Given the description of an element on the screen output the (x, y) to click on. 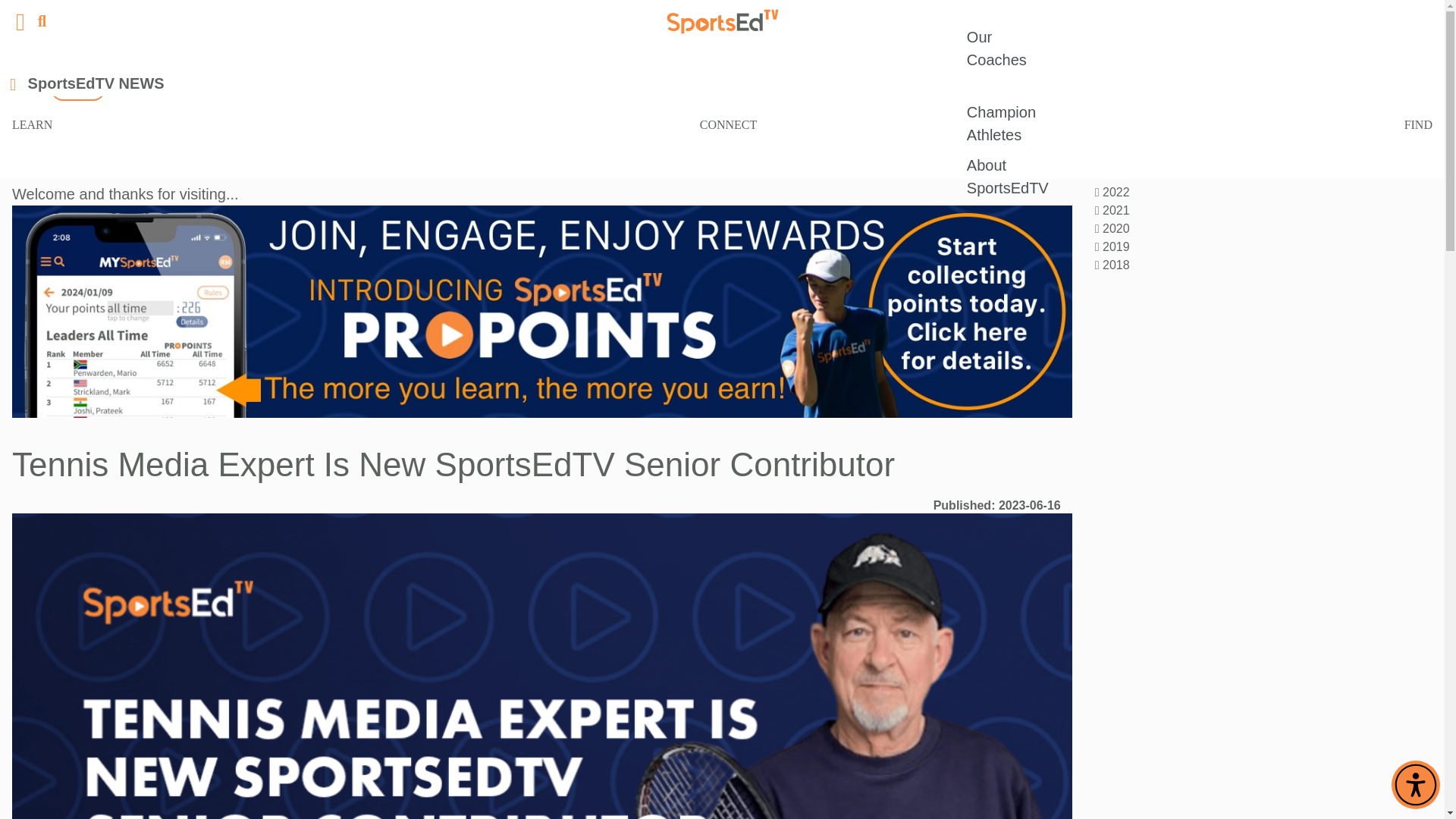
Accessibility Menu (1415, 784)
Sign In (77, 88)
EXPLORE (347, 88)
LEARN (32, 125)
CONNECT (728, 125)
Next (1042, 116)
Previous (965, 116)
About SportsEdTV (1007, 176)
Our Champion Athletes (1007, 111)
Our Coaches (1007, 48)
